Given the description of an element on the screen output the (x, y) to click on. 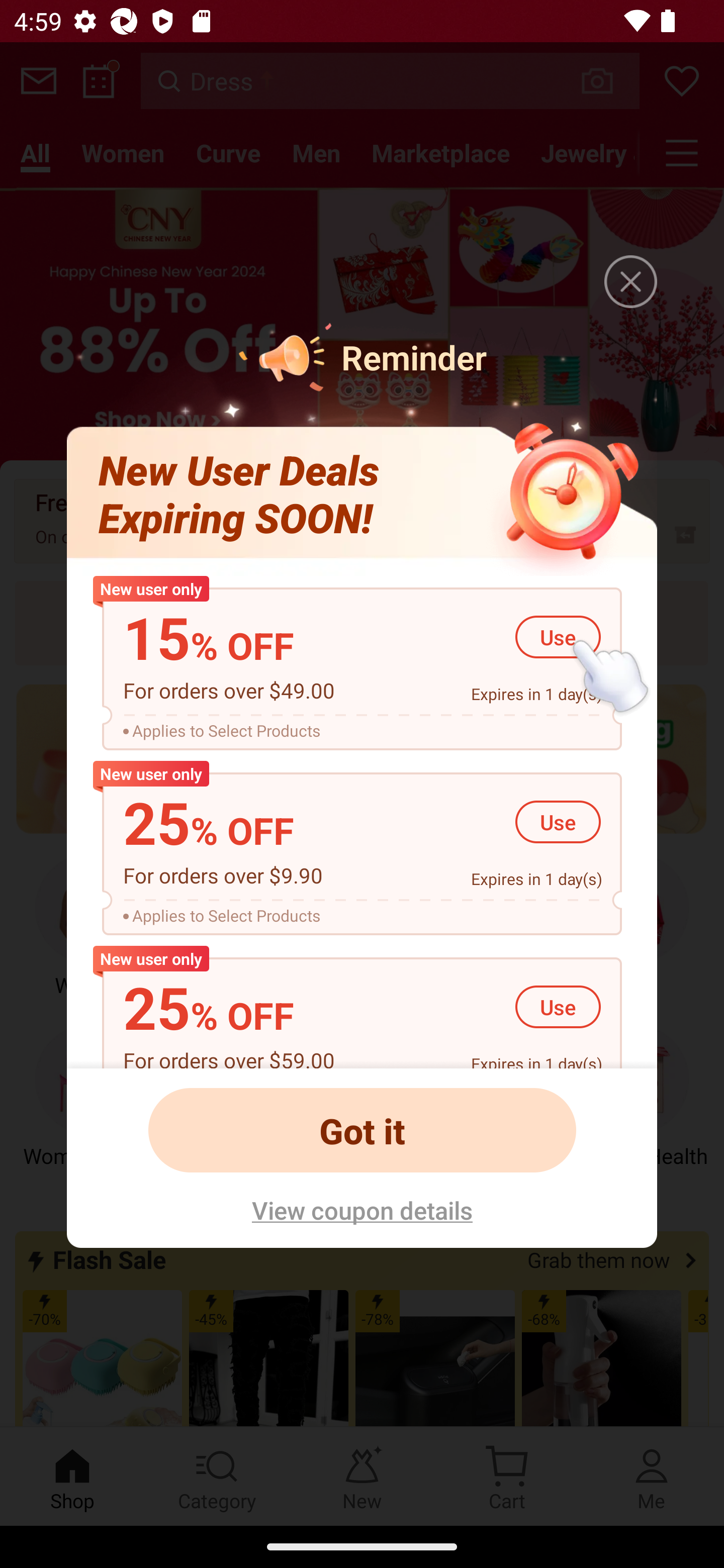
Use (557, 637)
Use (557, 822)
Use (557, 1007)
Got it (362, 1130)
View coupon details (361, 1209)
